Given the description of an element on the screen output the (x, y) to click on. 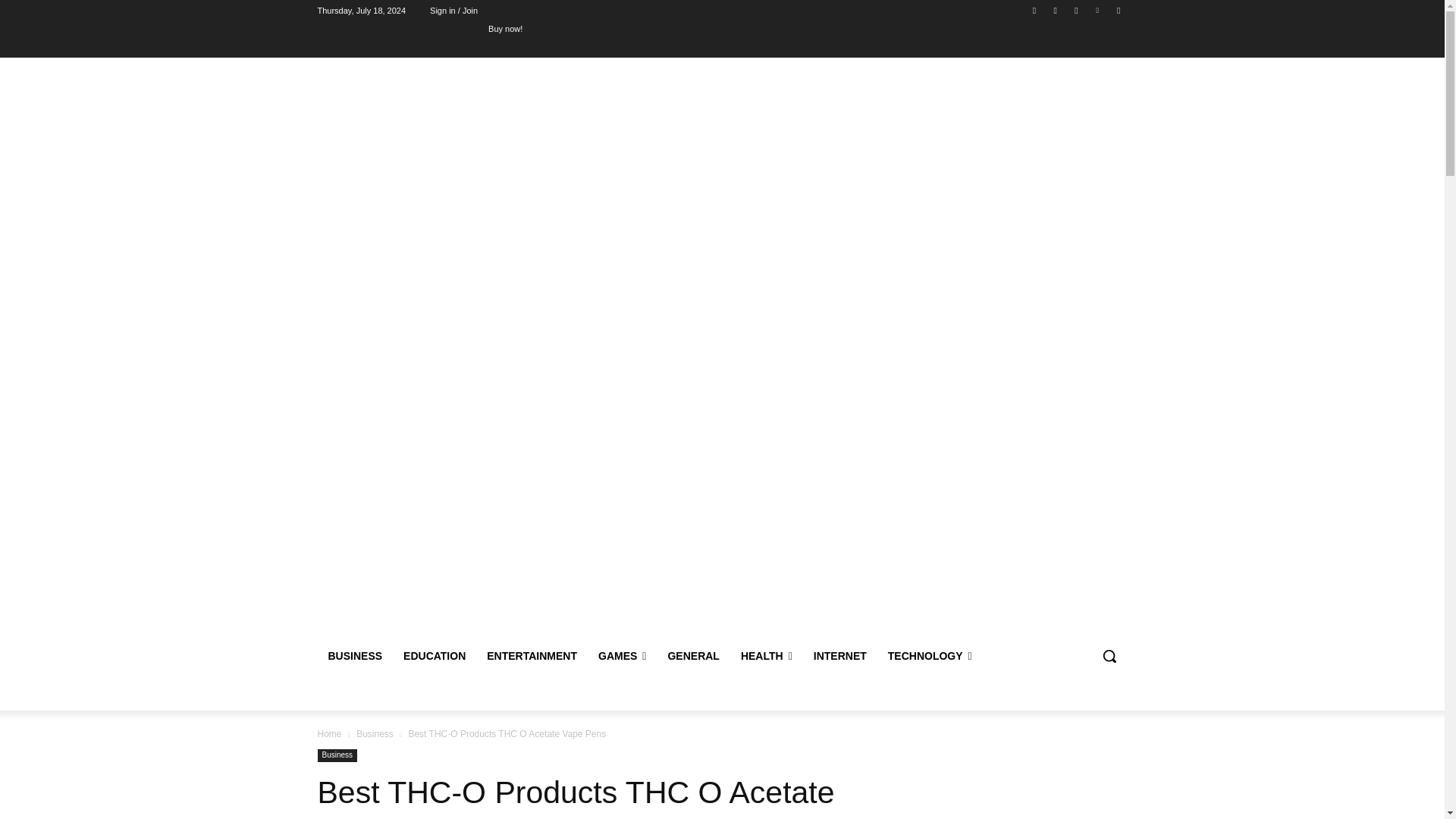
Instagram (1055, 9)
BUSINESS (355, 656)
EDUCATION (434, 656)
ENTERTAINMENT (532, 656)
Buy now! (504, 28)
Facebook (1034, 9)
GAMES (622, 656)
GENERAL (692, 656)
Twitter (1075, 9)
Youtube (1117, 9)
Vimeo (1097, 9)
